Given the description of an element on the screen output the (x, y) to click on. 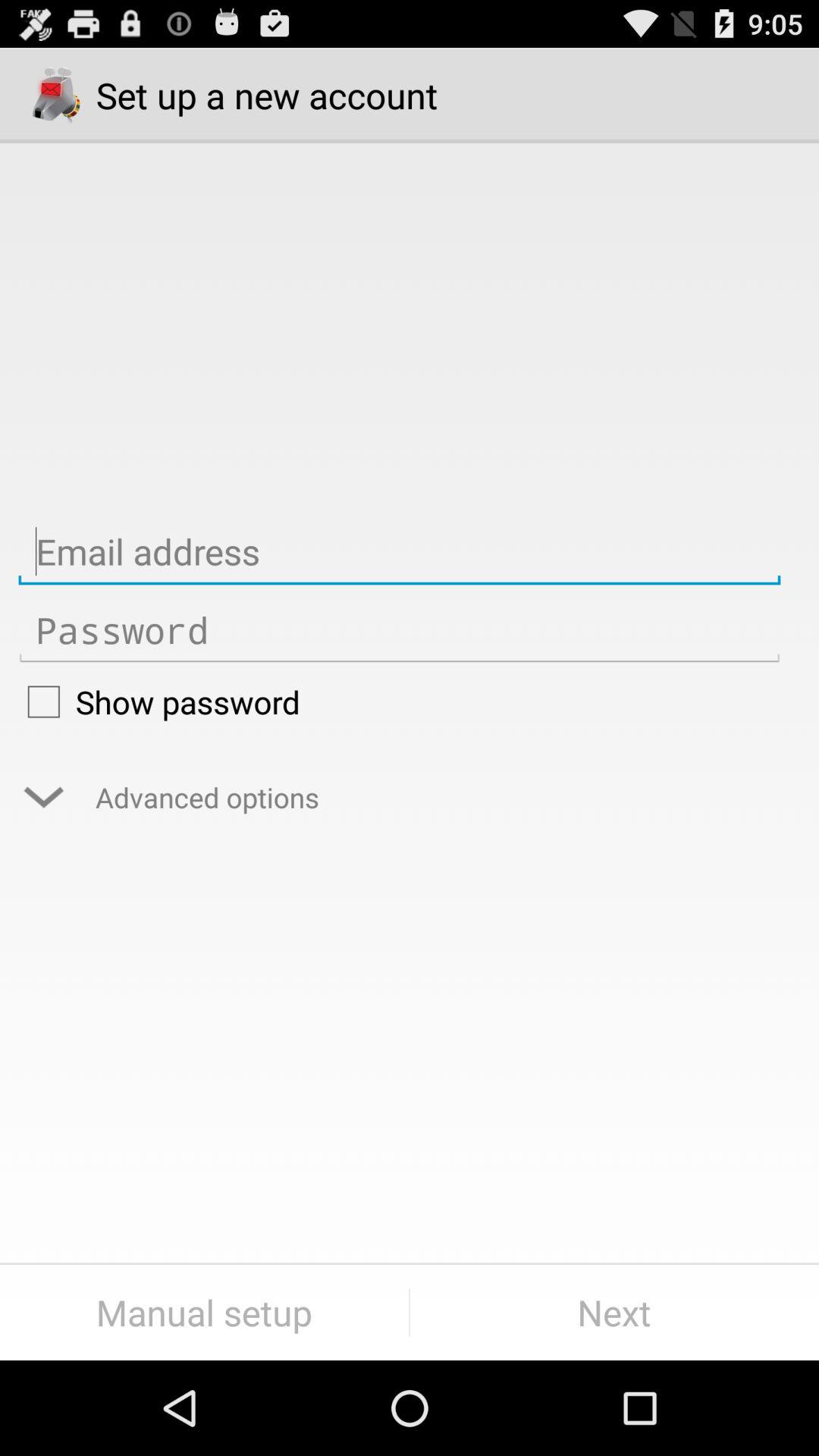
swipe until manual setup (204, 1312)
